Given the description of an element on the screen output the (x, y) to click on. 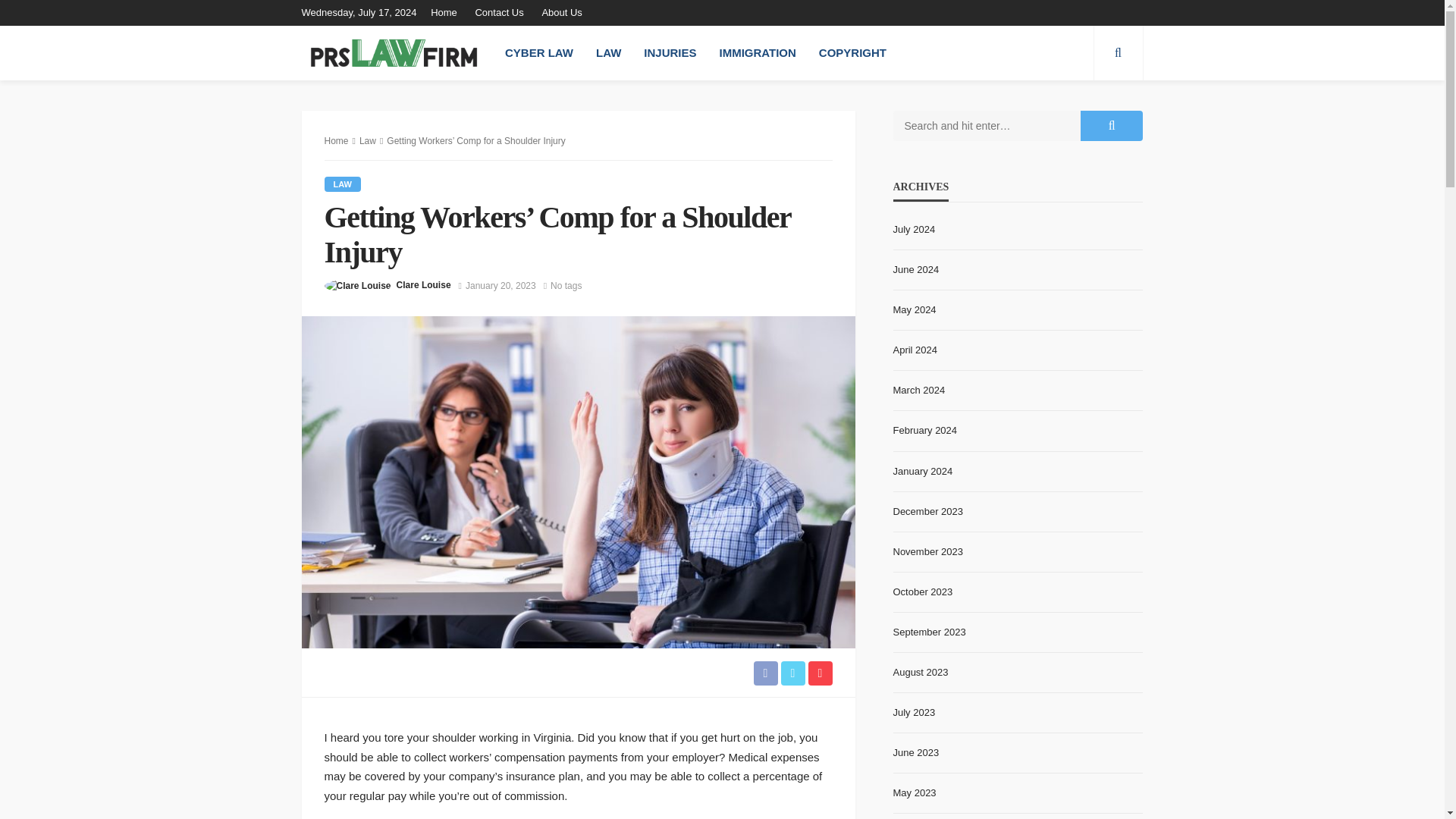
PRS Law Firm (393, 52)
Search (1118, 52)
Law (342, 183)
